Given the description of an element on the screen output the (x, y) to click on. 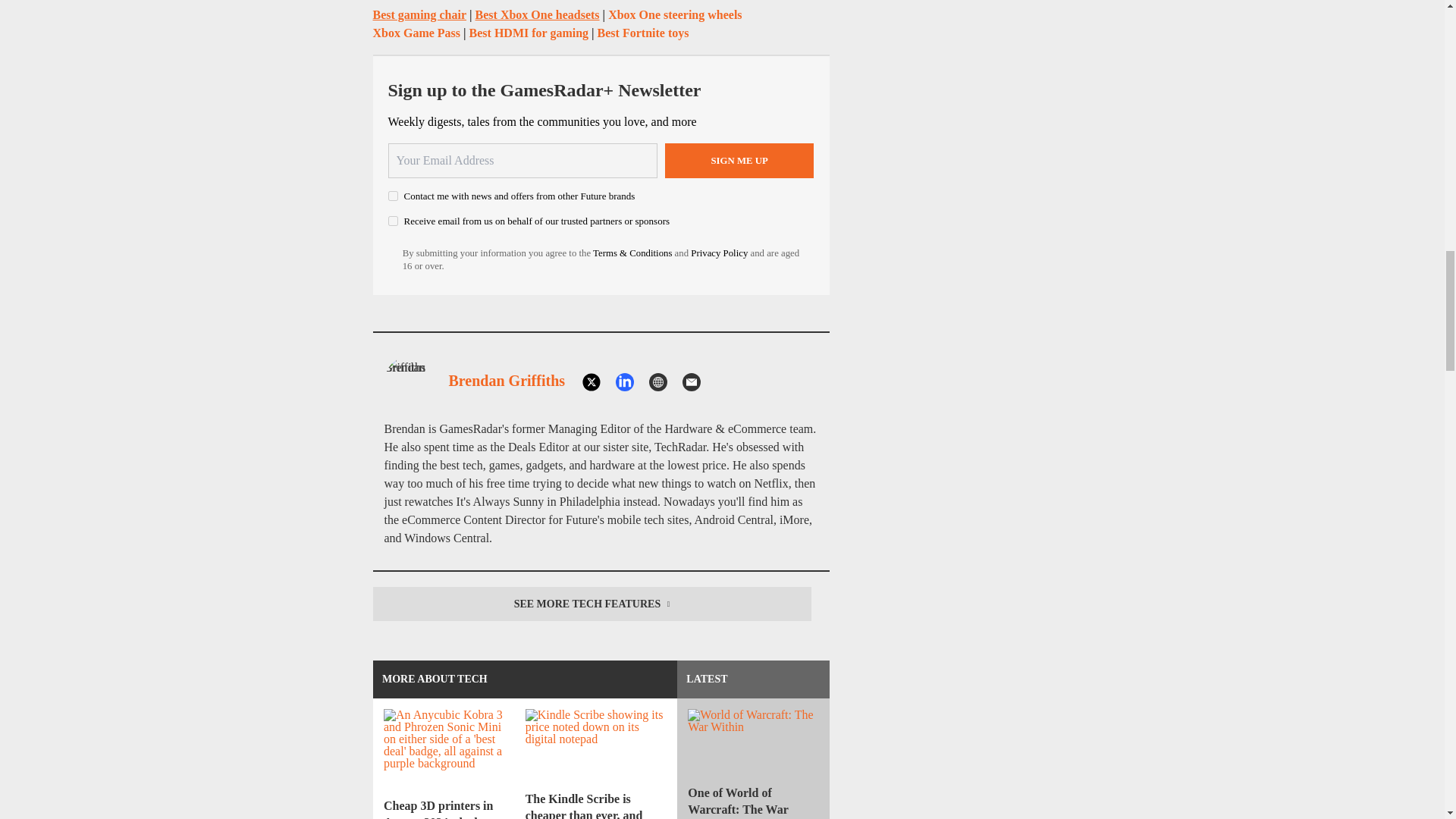
Sign me up (739, 160)
on (392, 195)
on (392, 221)
